Given the description of an element on the screen output the (x, y) to click on. 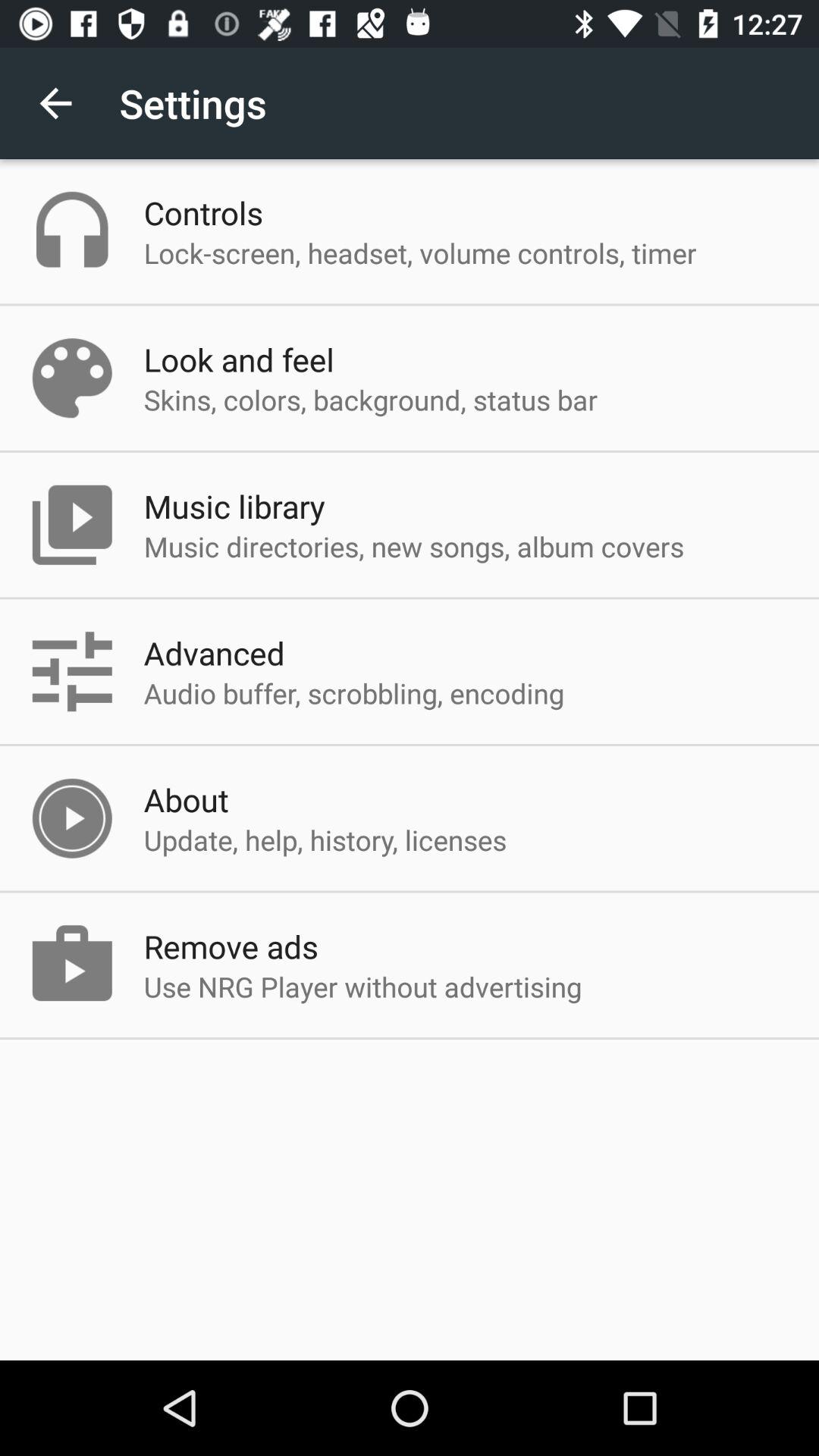
tap app above music directories new item (234, 505)
